Given the description of an element on the screen output the (x, y) to click on. 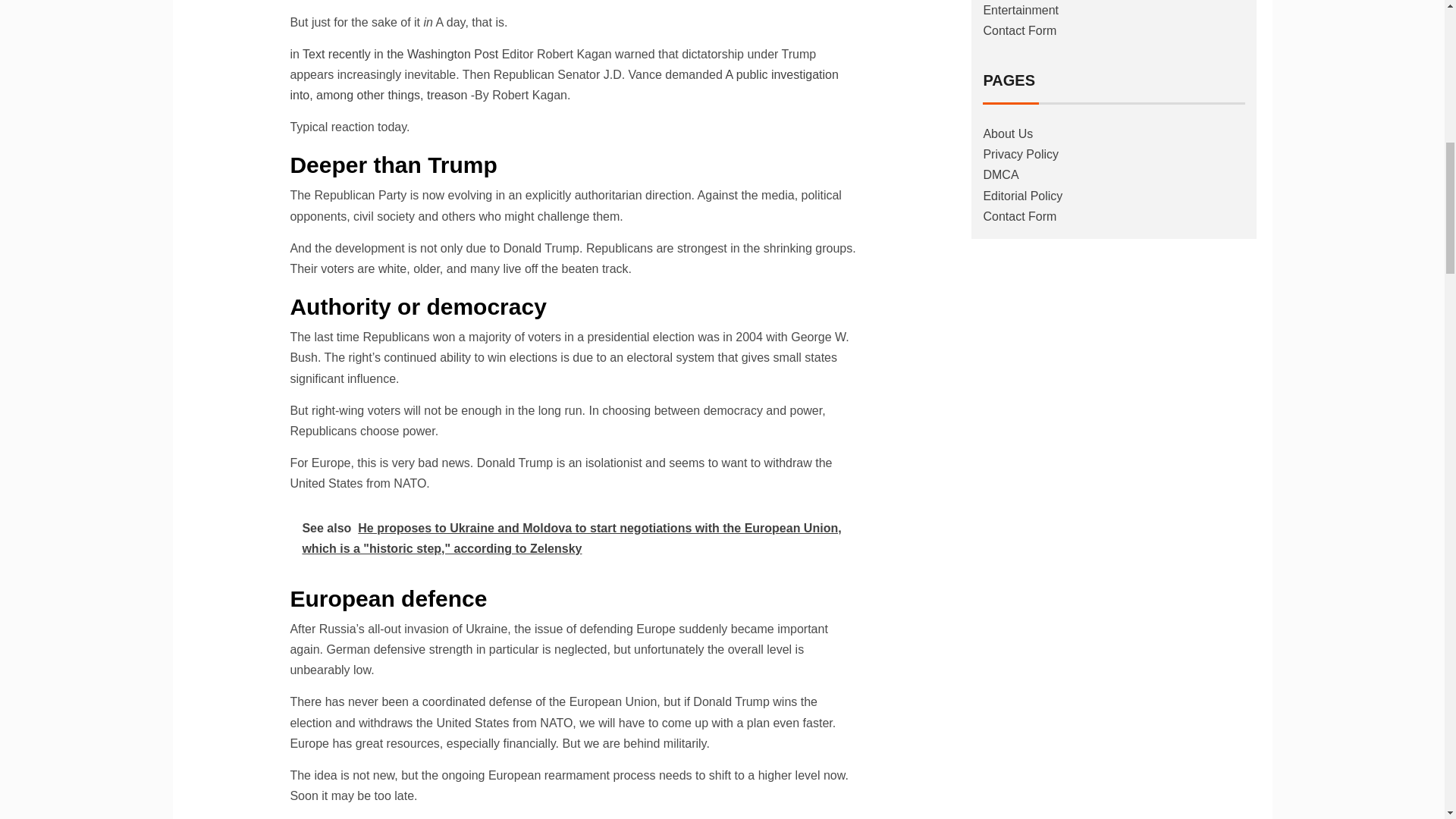
Text recently in the Washington Post (402, 53)
A public investigation into, among other things, treason (563, 84)
